Given the description of an element on the screen output the (x, y) to click on. 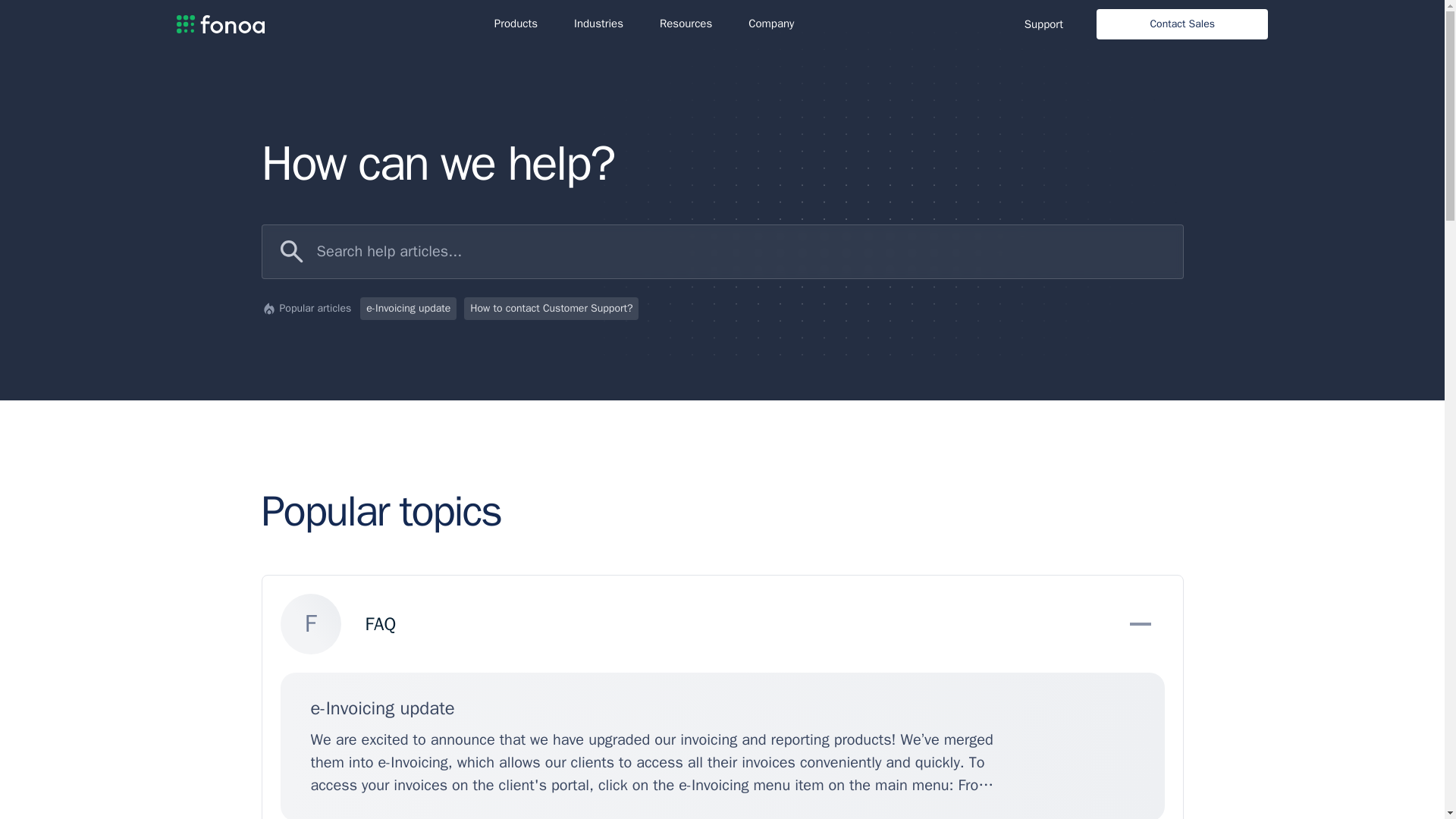
Support (1043, 23)
How to contact Customer Support? (551, 308)
Contact Sales (1182, 24)
e-Invoicing update (408, 308)
